Given the description of an element on the screen output the (x, y) to click on. 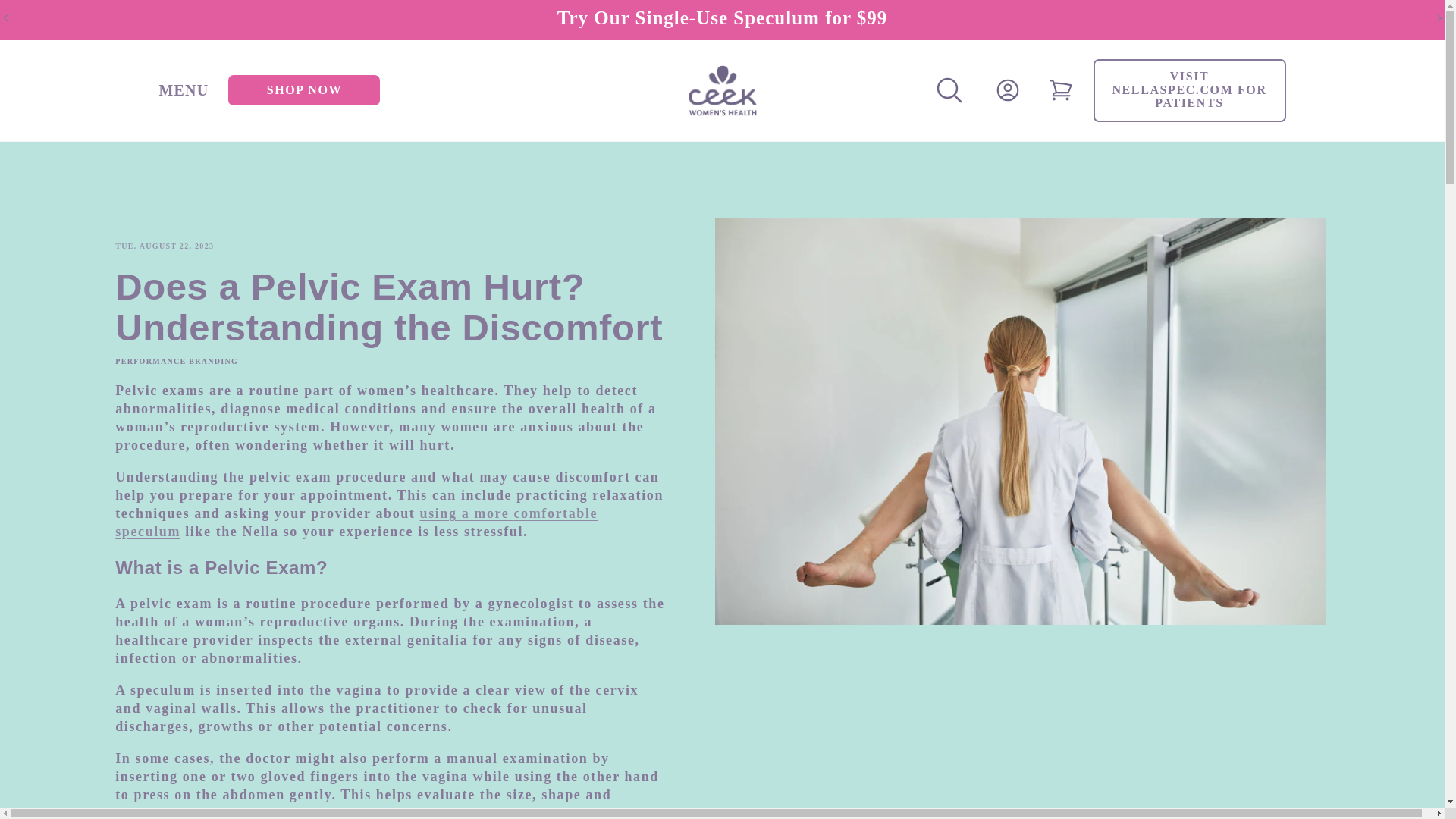
Log in (1007, 89)
using a more comfortable speculum (355, 522)
Skip to content (45, 17)
Cart (1060, 89)
VISIT NELLASPEC.COM FOR PATIENTS (1188, 89)
SHOP NOW (304, 90)
